Given the description of an element on the screen output the (x, y) to click on. 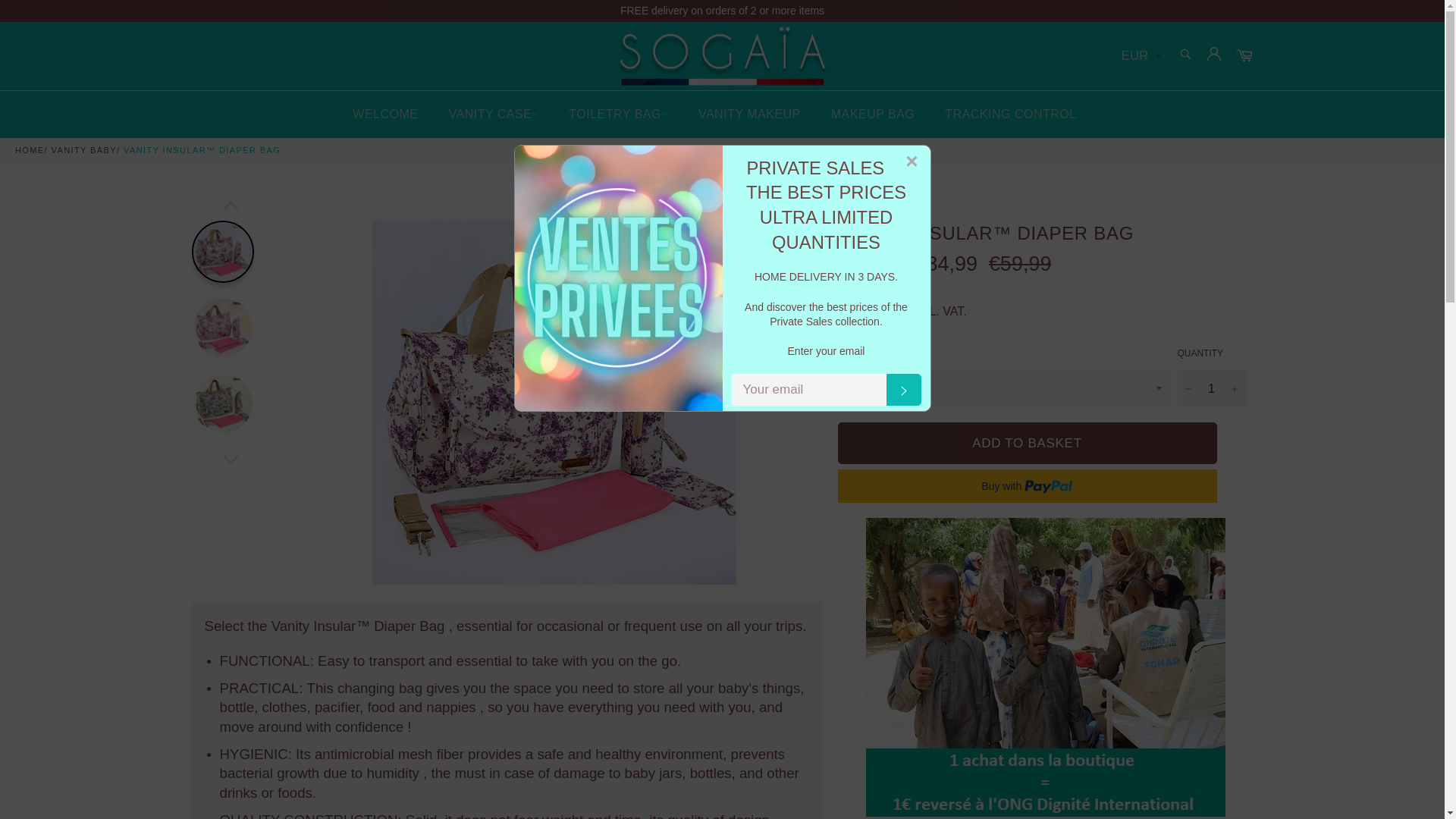
WELCOME (384, 114)
Search (1184, 53)
Home (29, 149)
1 (1210, 388)
